Given the description of an element on the screen output the (x, y) to click on. 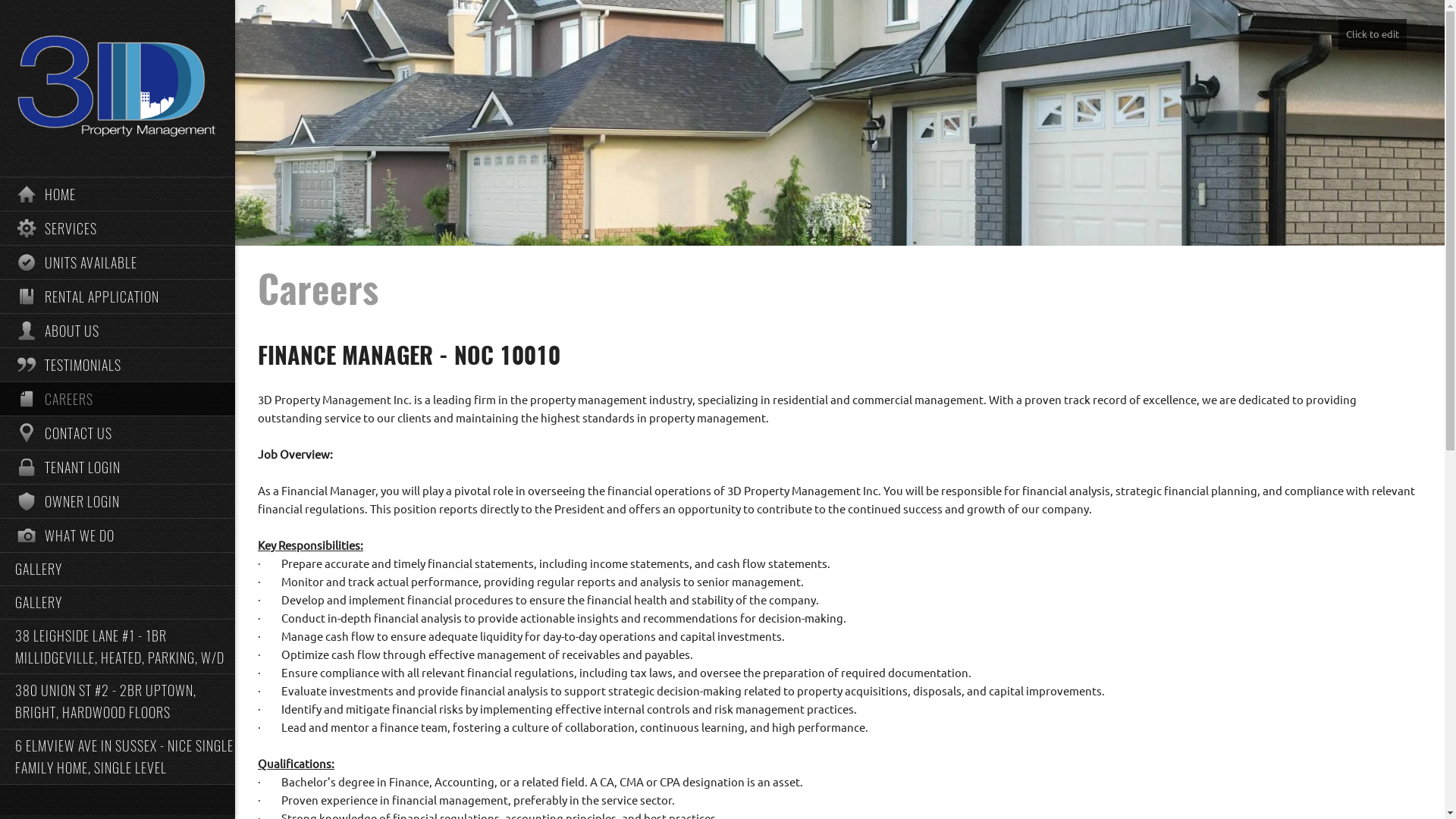
GALLERY Element type: text (117, 601)
CAREERS Element type: text (117, 398)
WHAT WE DO Element type: text (117, 534)
HOME Element type: text (117, 193)
380 UNION ST #2 - 2BR UPTOWN, BRIGHT, HARDWOOD FLOORS Element type: text (117, 700)
Go to site home page Element type: hover (117, 88)
GALLERY Element type: text (117, 568)
OWNER LOGIN Element type: text (117, 500)
RENTAL APPLICATION Element type: text (117, 296)
CONTACT US Element type: text (117, 432)
ABOUT US Element type: text (117, 330)
Click to edit Element type: text (1372, 34)
SERVICES Element type: text (117, 227)
UNITS AVAILABLE Element type: text (117, 261)
TENANT LOGIN Element type: text (117, 466)
TESTIMONIALS Element type: text (117, 364)
Go to site home page Element type: hover (117, 85)
